Given the description of an element on the screen output the (x, y) to click on. 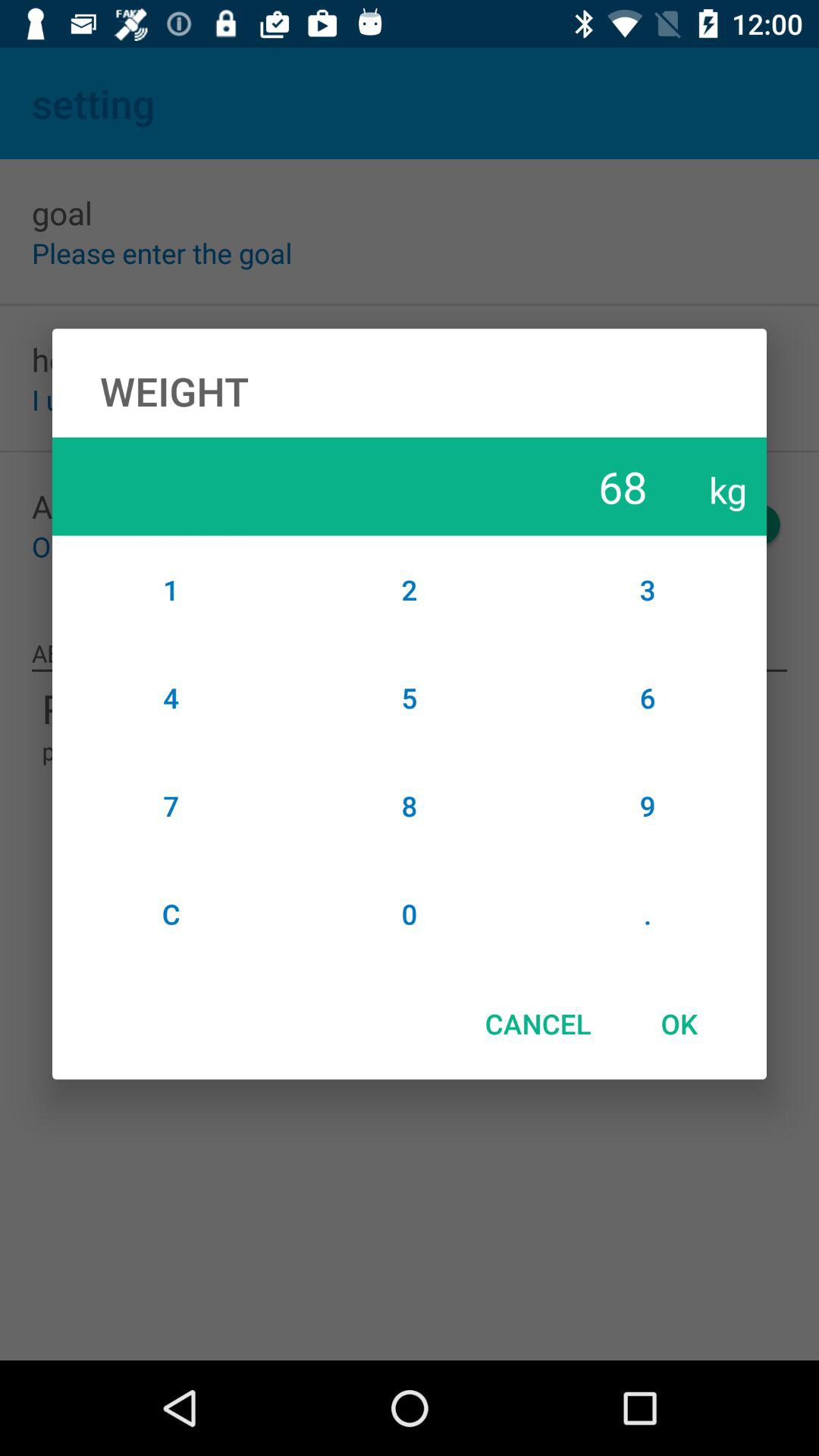
swipe until the ok icon (678, 1023)
